Given the description of an element on the screen output the (x, y) to click on. 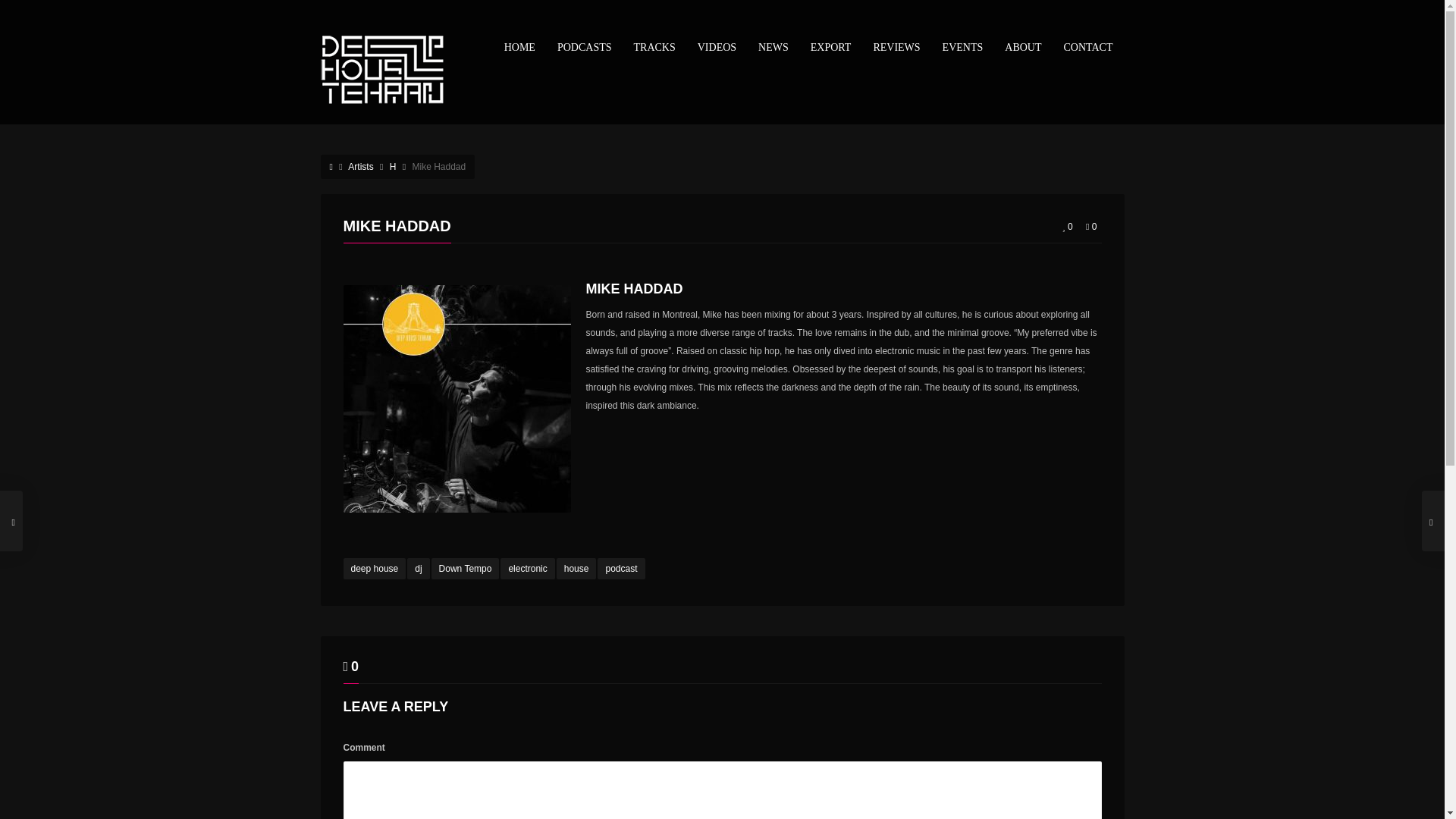
VIDEOS (716, 47)
CONTACT (1087, 47)
Deep house Tehran (392, 69)
podcast (620, 568)
deep house (374, 568)
dj (418, 568)
Artists (359, 166)
Like (1067, 226)
Down Tempo (464, 568)
0 (1090, 226)
